Given the description of an element on the screen output the (x, y) to click on. 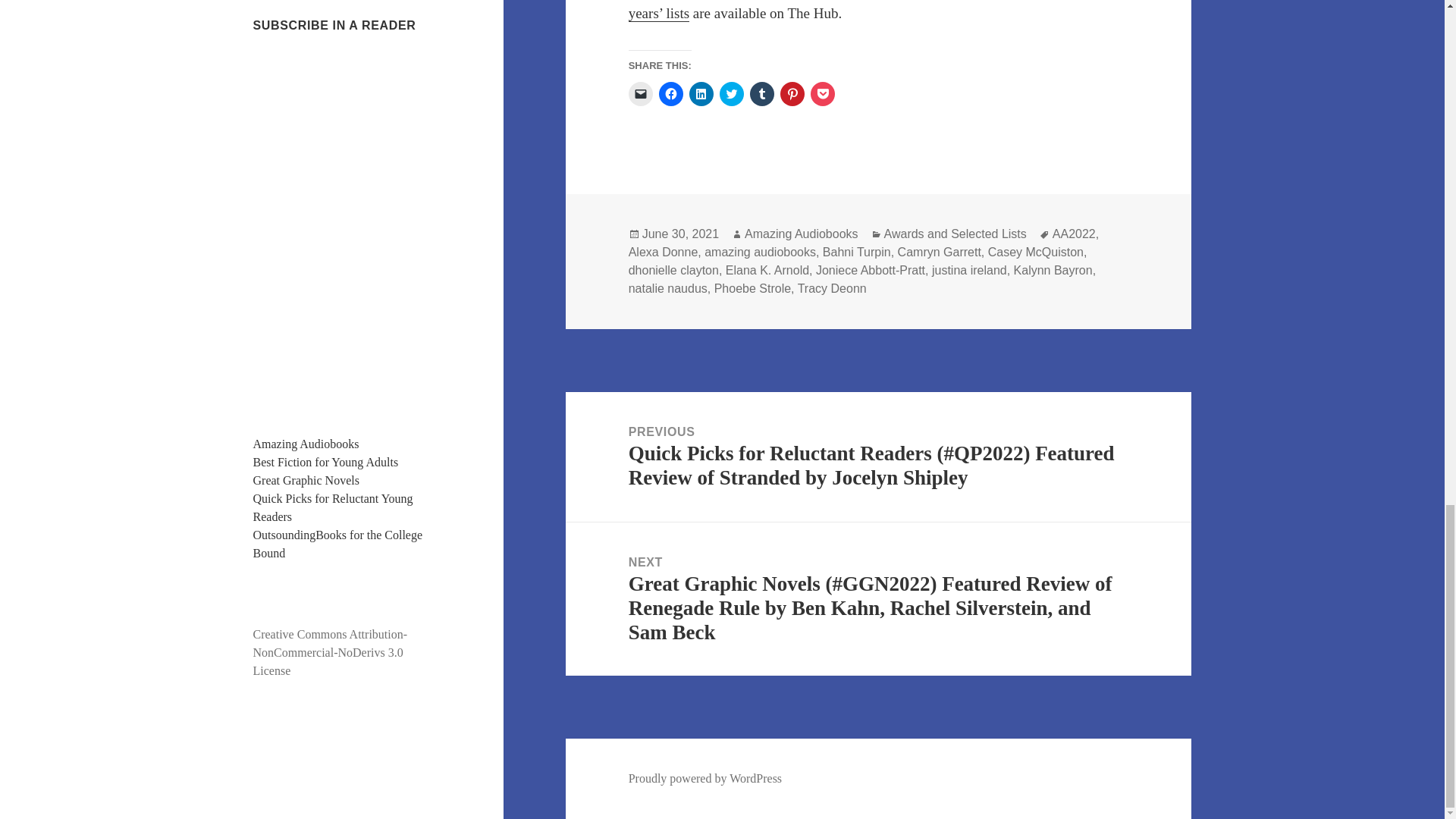
Click to share on Facebook (670, 93)
Quick Picks for Reluctant Young Readers (333, 507)
Amazing Audiobooks (306, 443)
June 30, 2021 (680, 233)
Click to share on Tumblr (761, 93)
Click to share on Pocket (822, 93)
OutsoundingBooks for the College Bound (338, 543)
Click to share on Pinterest (792, 93)
Click to email a link to a friend (640, 93)
Great Graphic Novels (306, 480)
